Given the description of an element on the screen output the (x, y) to click on. 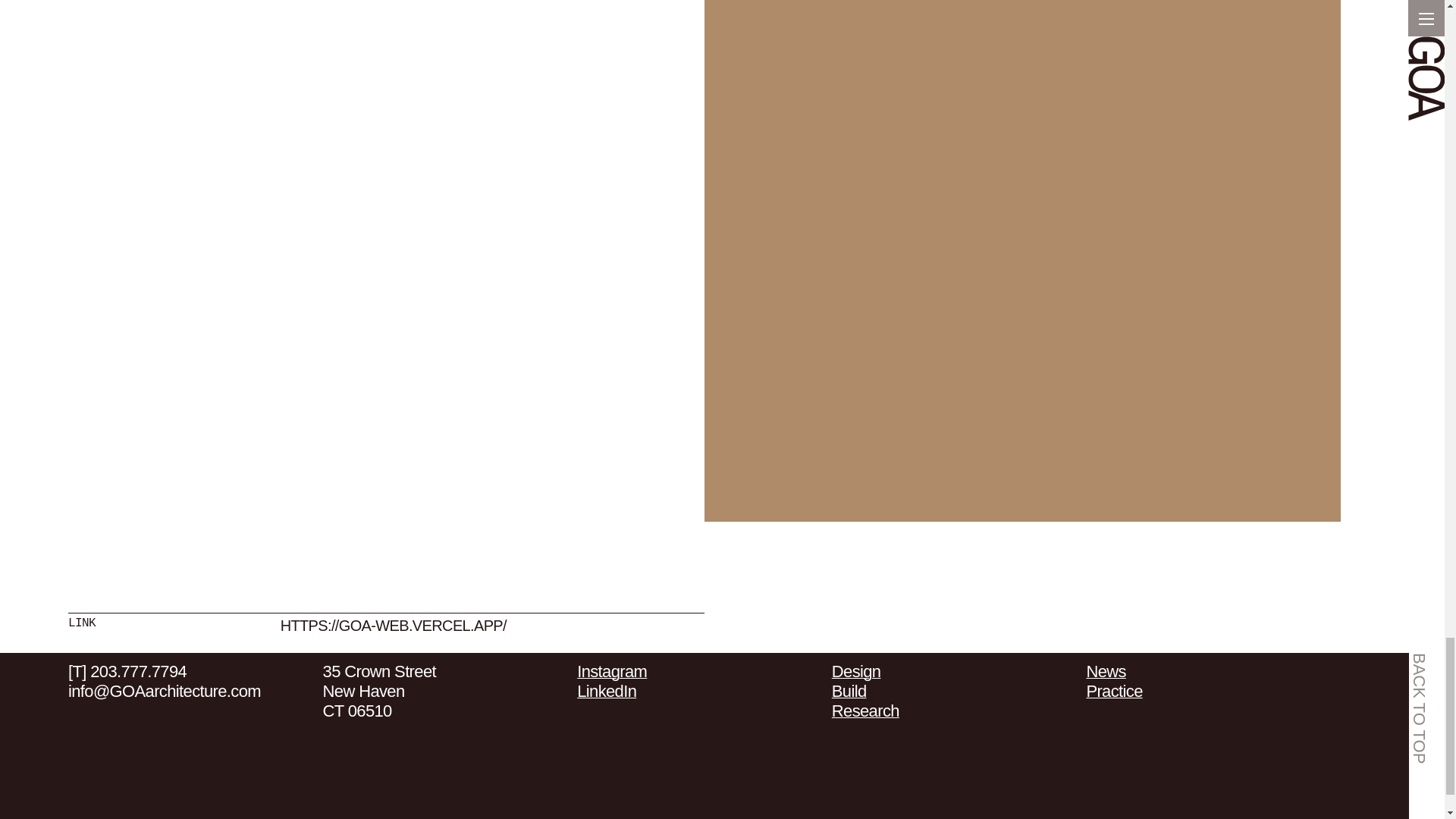
Build (848, 691)
Practice (1113, 691)
LinkedIn (606, 691)
Design (855, 670)
Instagram (611, 670)
News (1105, 670)
203.777.7794 (138, 670)
Build (848, 691)
Research (865, 710)
News (1105, 670)
Research (865, 710)
Practice (1113, 691)
Design (855, 670)
Instagram (611, 670)
LinkedIn (606, 691)
